Given the description of an element on the screen output the (x, y) to click on. 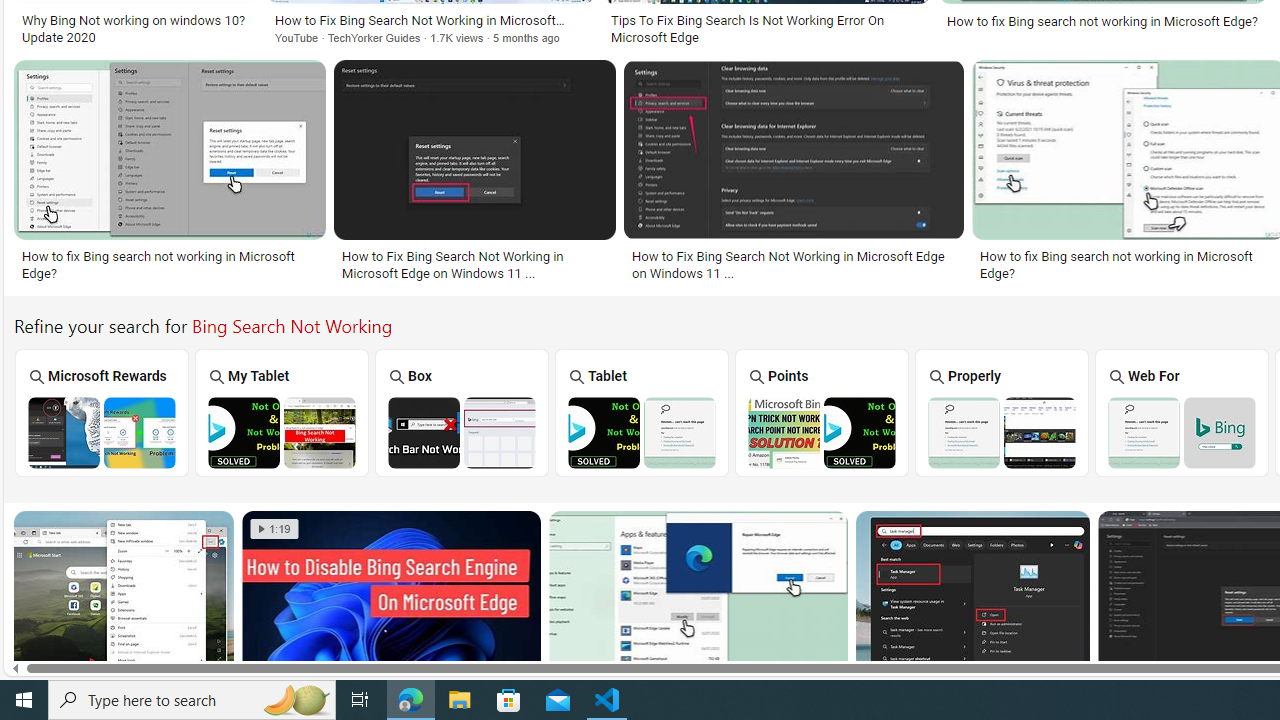
Bing Tablet Search Not Working Tablet (641, 412)
How to fix Bing search not working in Microsoft Edge?Save (174, 173)
Microsoft Rewards Bing Search Not Working (102, 432)
How to fix Bing search not working in Microsoft Edge? (1128, 264)
Bing Search Box Not Working (462, 432)
Bing Search the Web for Image Not Working (1181, 432)
Bing Search Not Working On My Tablet My Tablet (281, 412)
Tablet (641, 412)
Bing Search Points Not Working (821, 432)
Image result for Bing Search Not Working (973, 600)
Bing Search Points Not Working Points (821, 412)
Bing Search the Web for Image Not Working Web For (1181, 412)
